Given the description of an element on the screen output the (x, y) to click on. 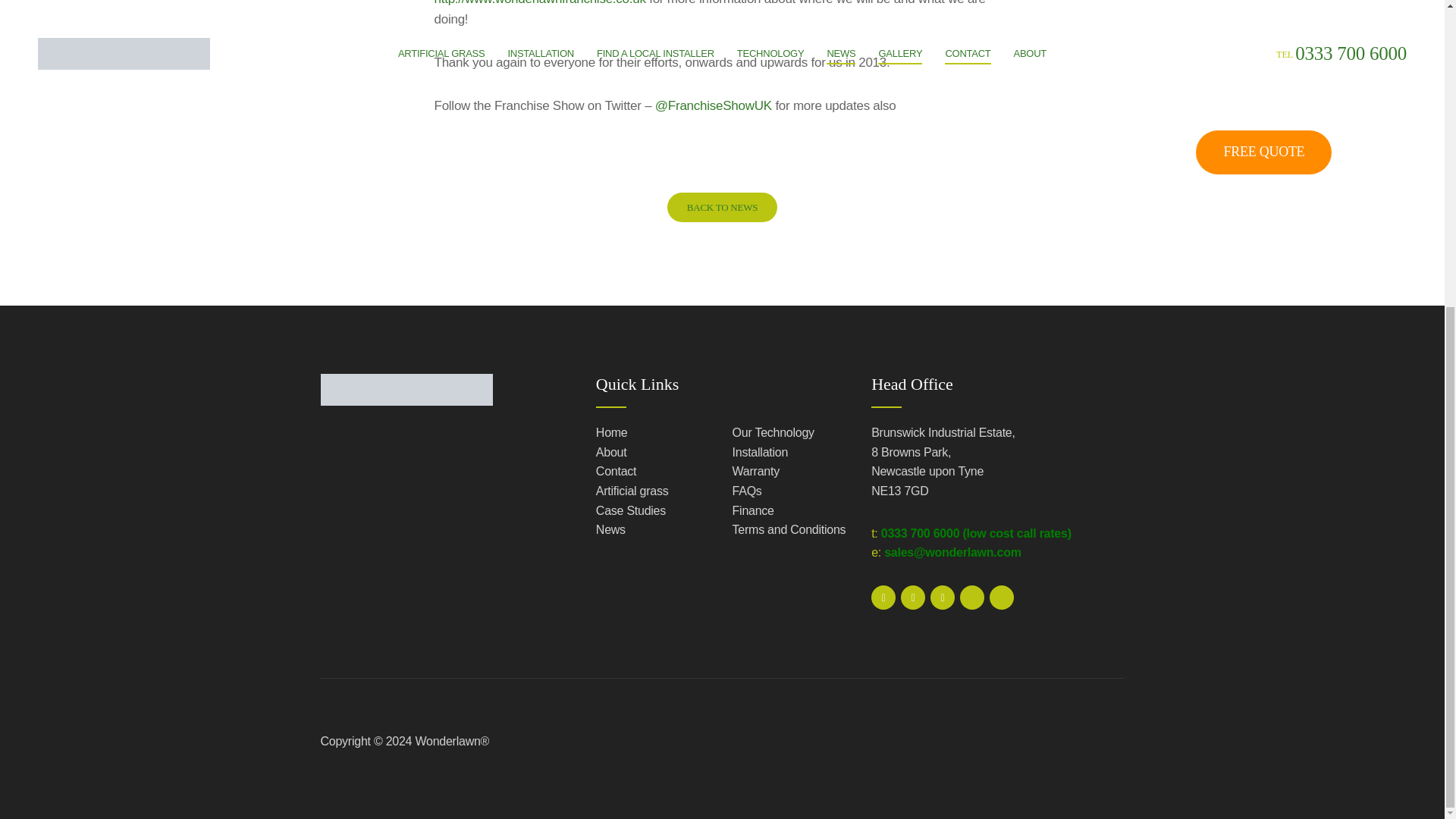
Finance (788, 510)
BACK TO NEWS (721, 206)
Case Studies (652, 510)
Terms and Conditions (788, 529)
Artificial grass (652, 491)
Our Technology (788, 433)
About (652, 452)
News (652, 529)
Home (652, 433)
FAQs (788, 491)
